Given the description of an element on the screen output the (x, y) to click on. 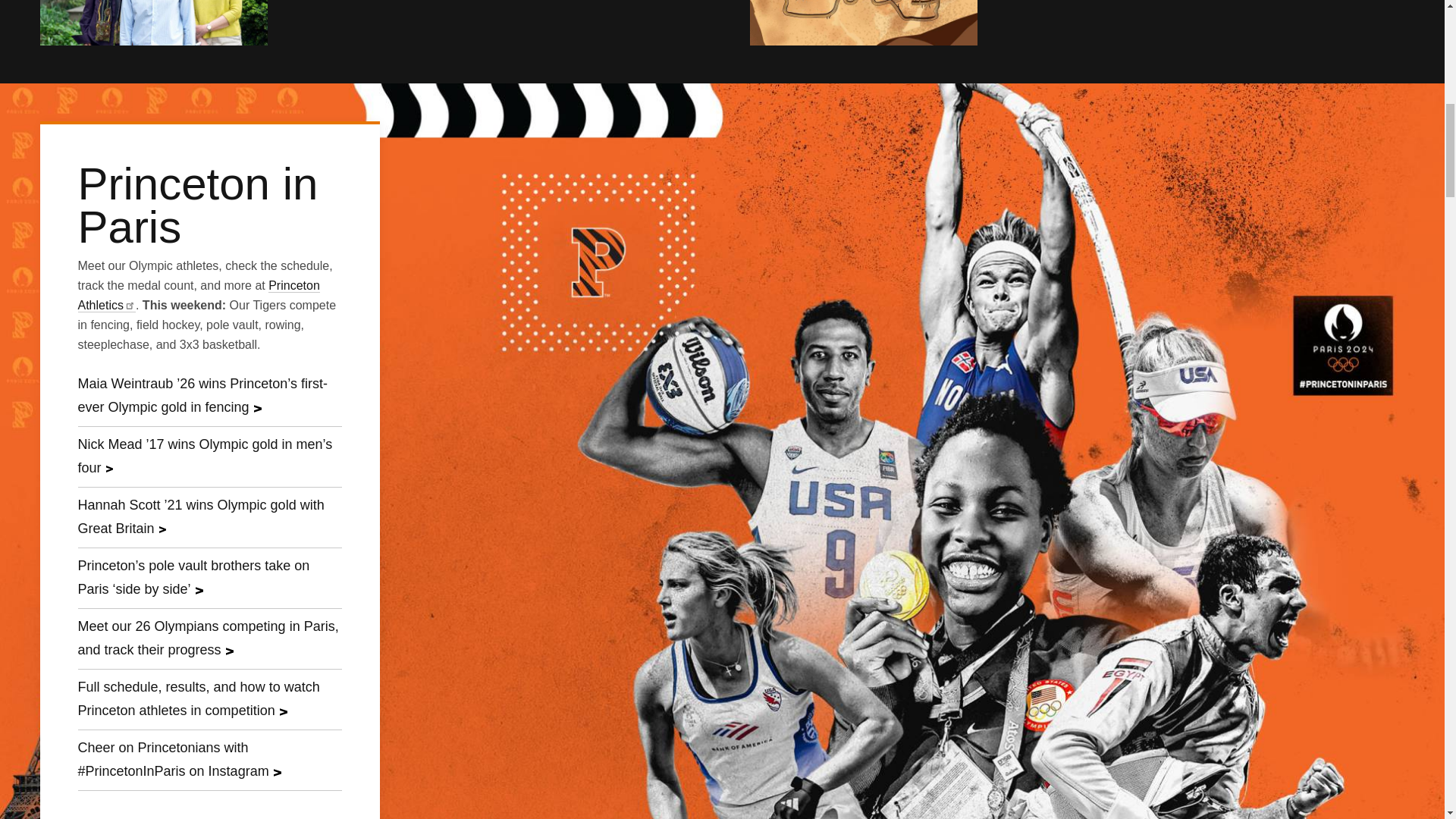
Princeton Athletics (197, 295)
